Given the description of an element on the screen output the (x, y) to click on. 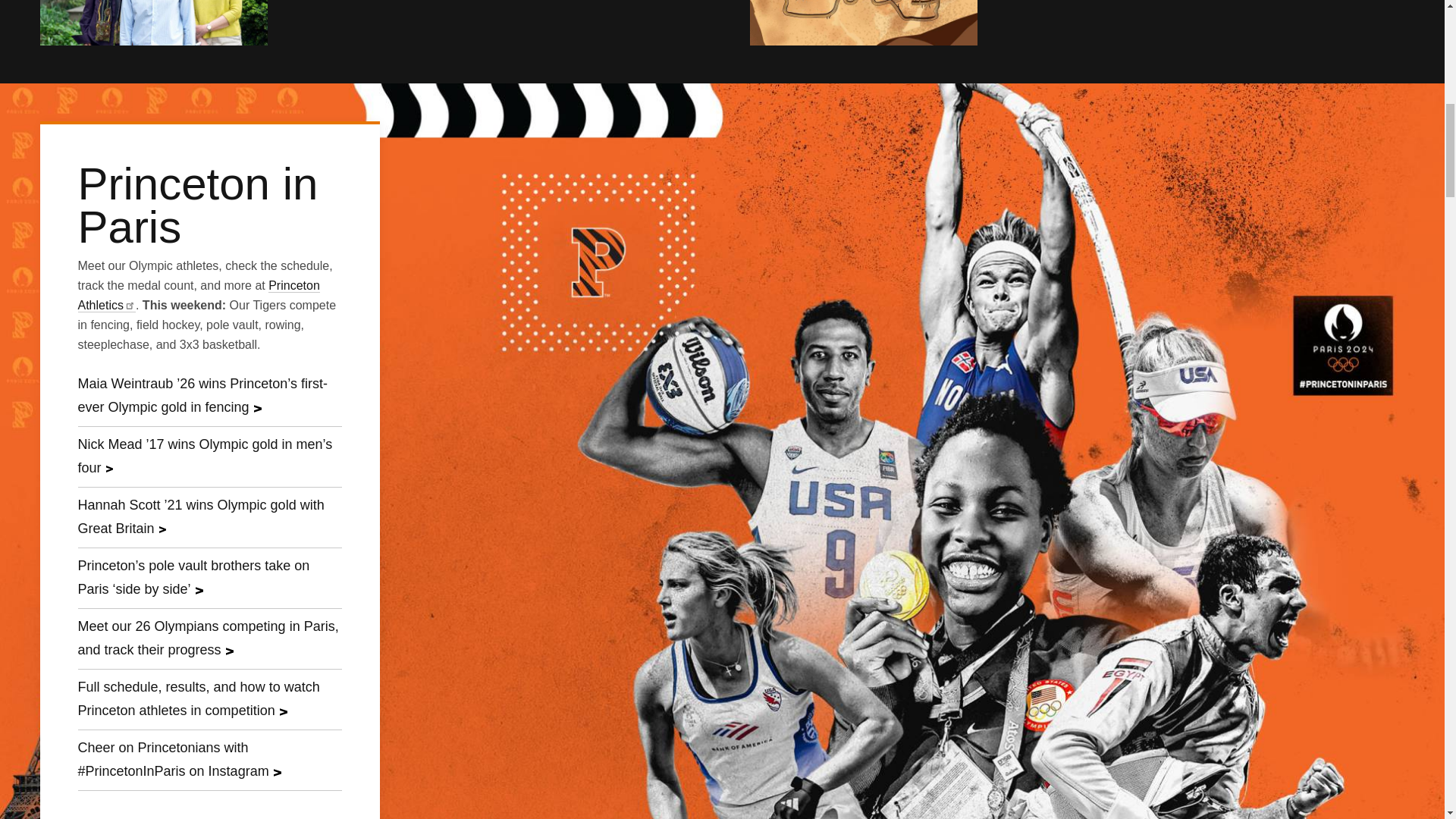
Princeton Athletics (197, 295)
